Given the description of an element on the screen output the (x, y) to click on. 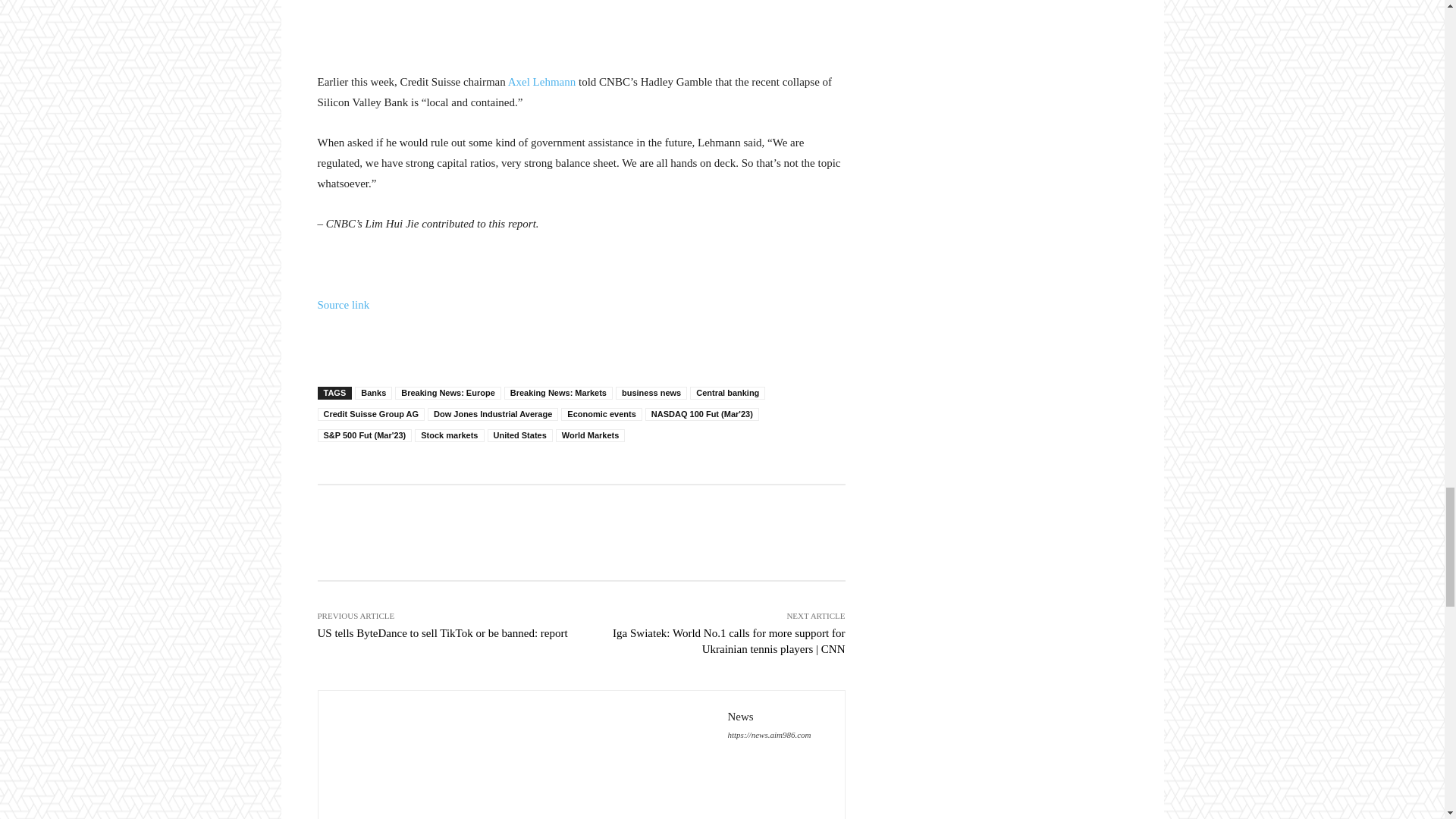
Embedded Interactive Chart (580, 22)
